Given the description of an element on the screen output the (x, y) to click on. 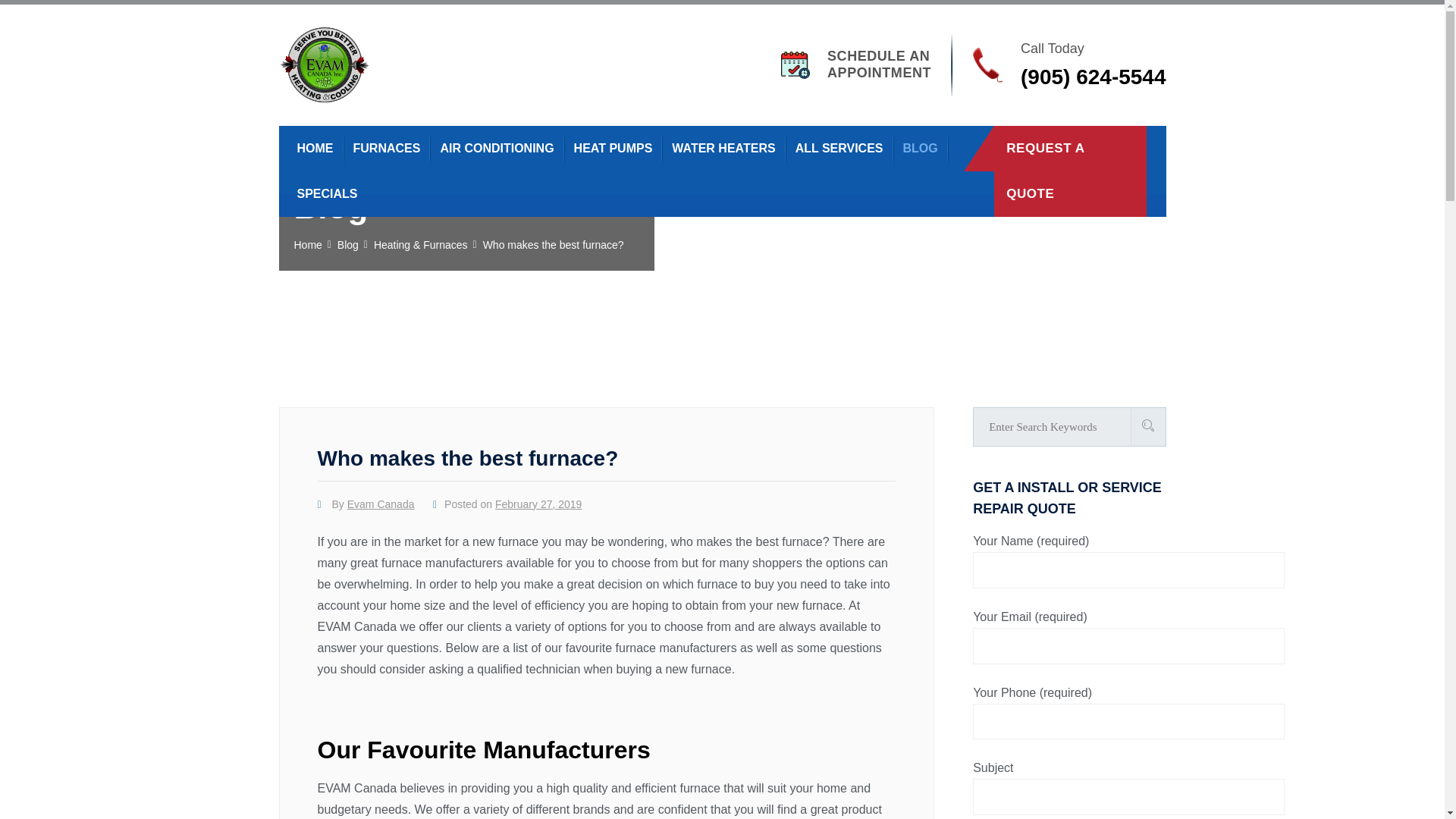
FURNACES (386, 147)
Furnaces (386, 147)
Air Conditioning (879, 64)
HOME (496, 147)
HEAT PUMPS (315, 147)
WATER HEATERS (612, 147)
AIR CONDITIONING (722, 147)
Home (496, 147)
